Given the description of an element on the screen output the (x, y) to click on. 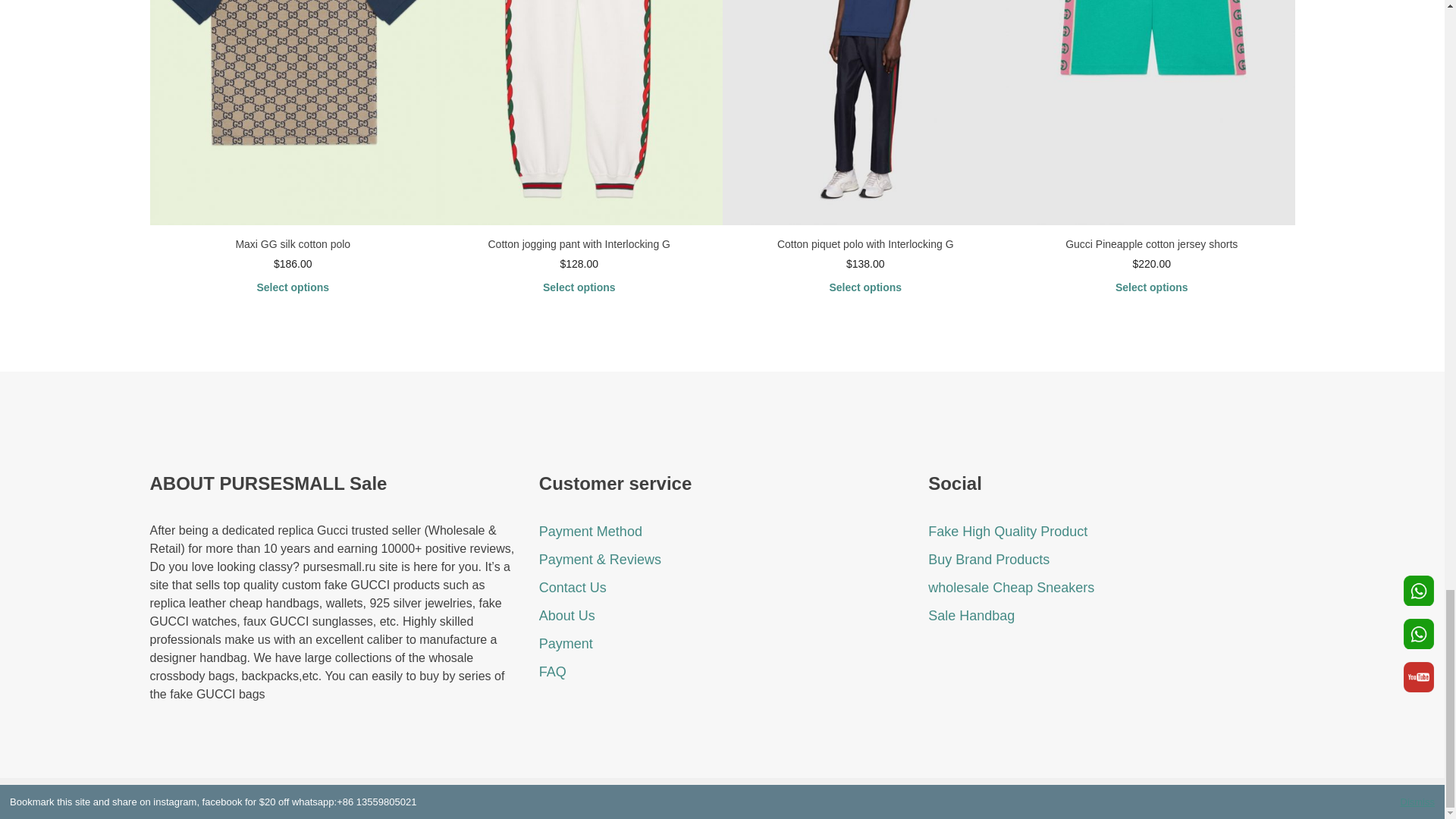
Gucci Replica Handbags sale (300, 797)
Replica whosale Gucci Bags (483, 797)
Replica whosale Gucci Bags (628, 797)
Replica Gucci Handbags Online Store (800, 797)
